Given the description of an element on the screen output the (x, y) to click on. 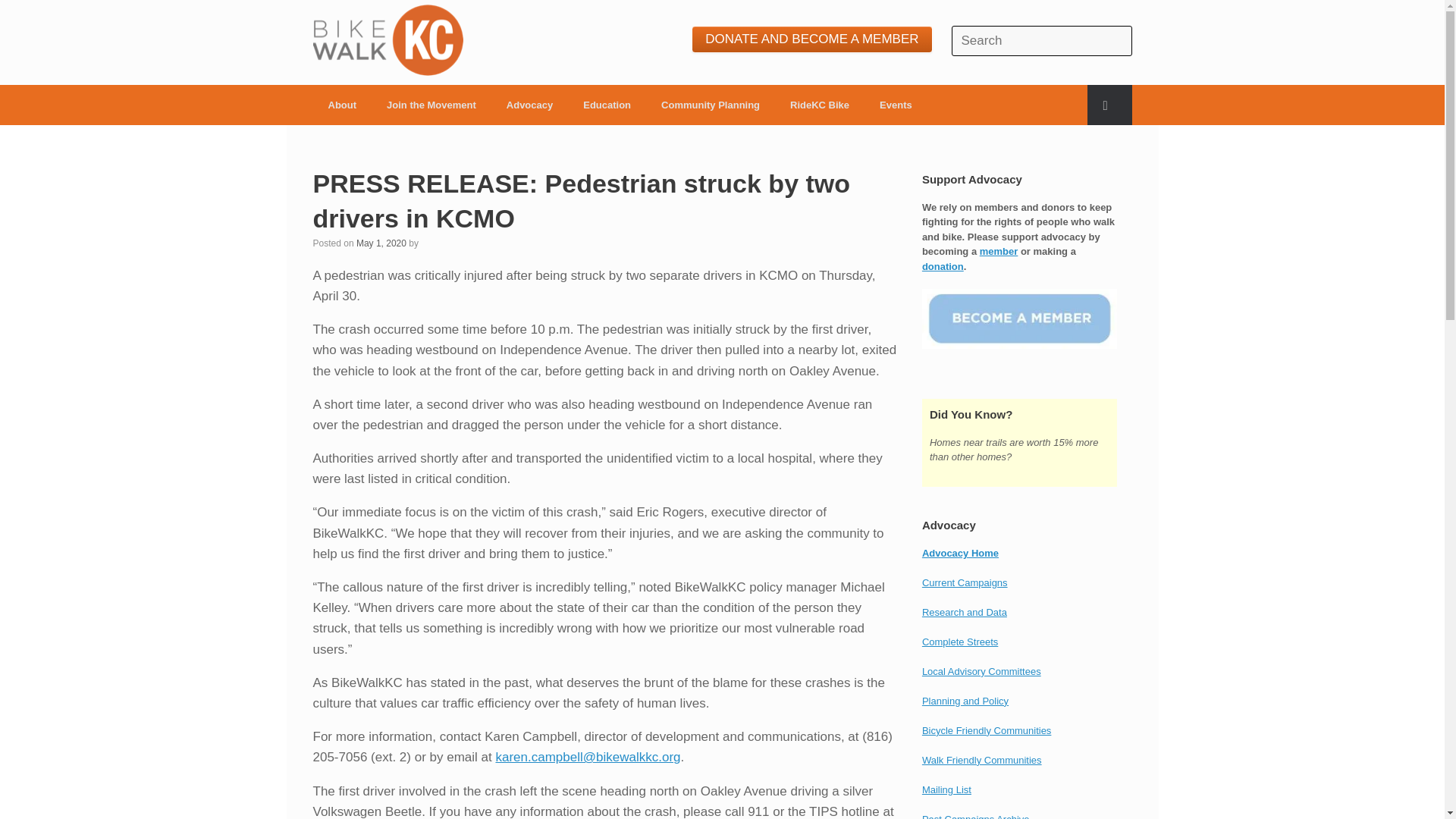
About (342, 105)
Join, Donate, Volunteer, Support (431, 105)
Join the Movement (431, 105)
BikeWalkKC (388, 40)
About BikeWalkKC (342, 105)
Educational Programs (606, 105)
2:47 pm (381, 243)
Education (606, 105)
DONATE AND BECOME A MEMBER (811, 39)
Advocacy (529, 105)
